Given the description of an element on the screen output the (x, y) to click on. 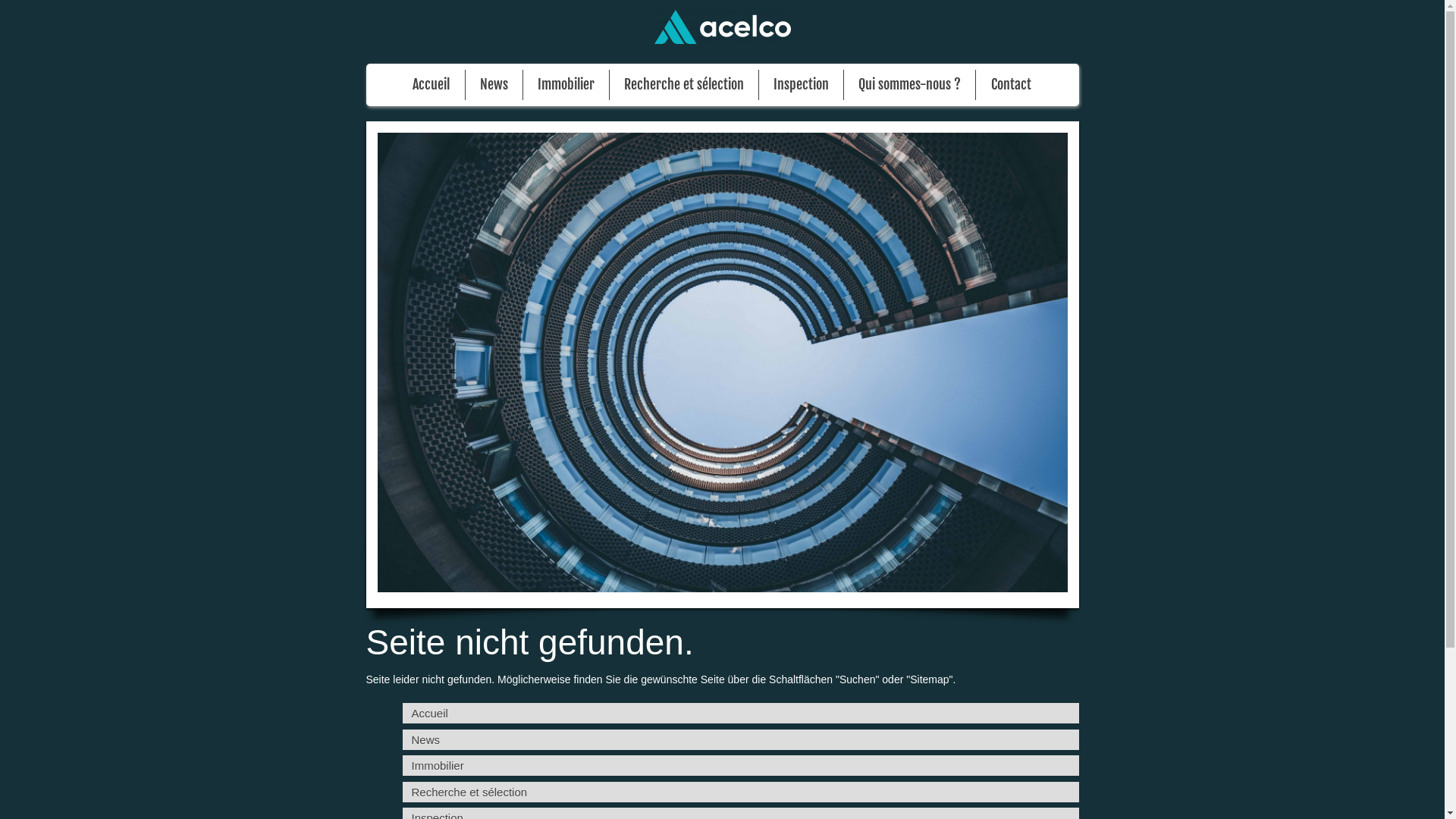
Immobilier Element type: text (566, 84)
Inspection Element type: text (800, 84)
Accueil Element type: text (739, 712)
Immobilier Element type: text (739, 765)
Accueil Element type: text (430, 84)
Contact Element type: text (1010, 84)
News Element type: text (739, 739)
Qui sommes-nous ? Element type: text (909, 84)
News Element type: text (493, 84)
